Given the description of an element on the screen output the (x, y) to click on. 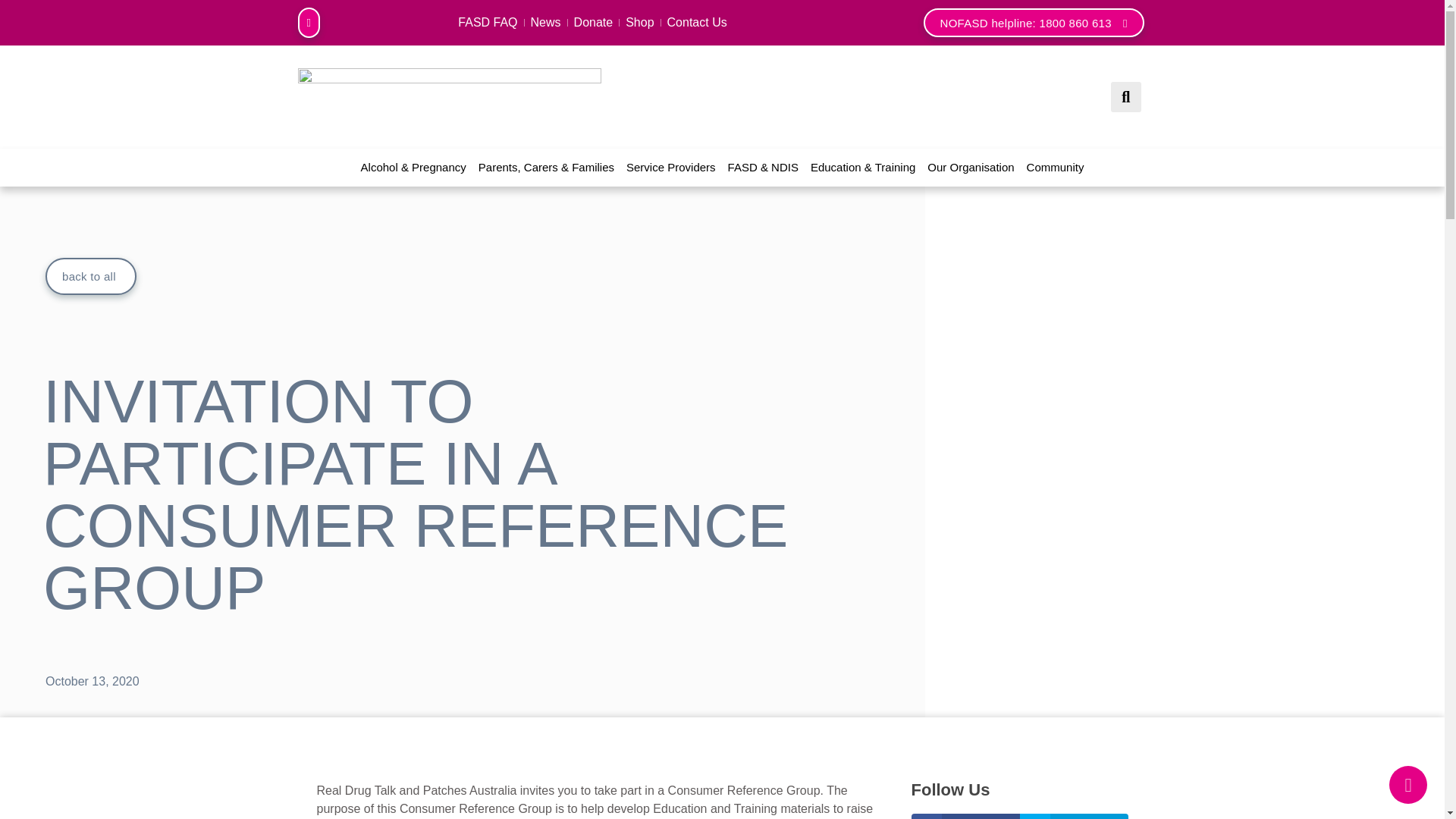
FASD FAQ (486, 22)
Shop (639, 22)
NOFASD helpline: 1800 860 613 (1033, 22)
Donate (593, 22)
News (545, 22)
Contact Us (697, 22)
